Given the description of an element on the screen output the (x, y) to click on. 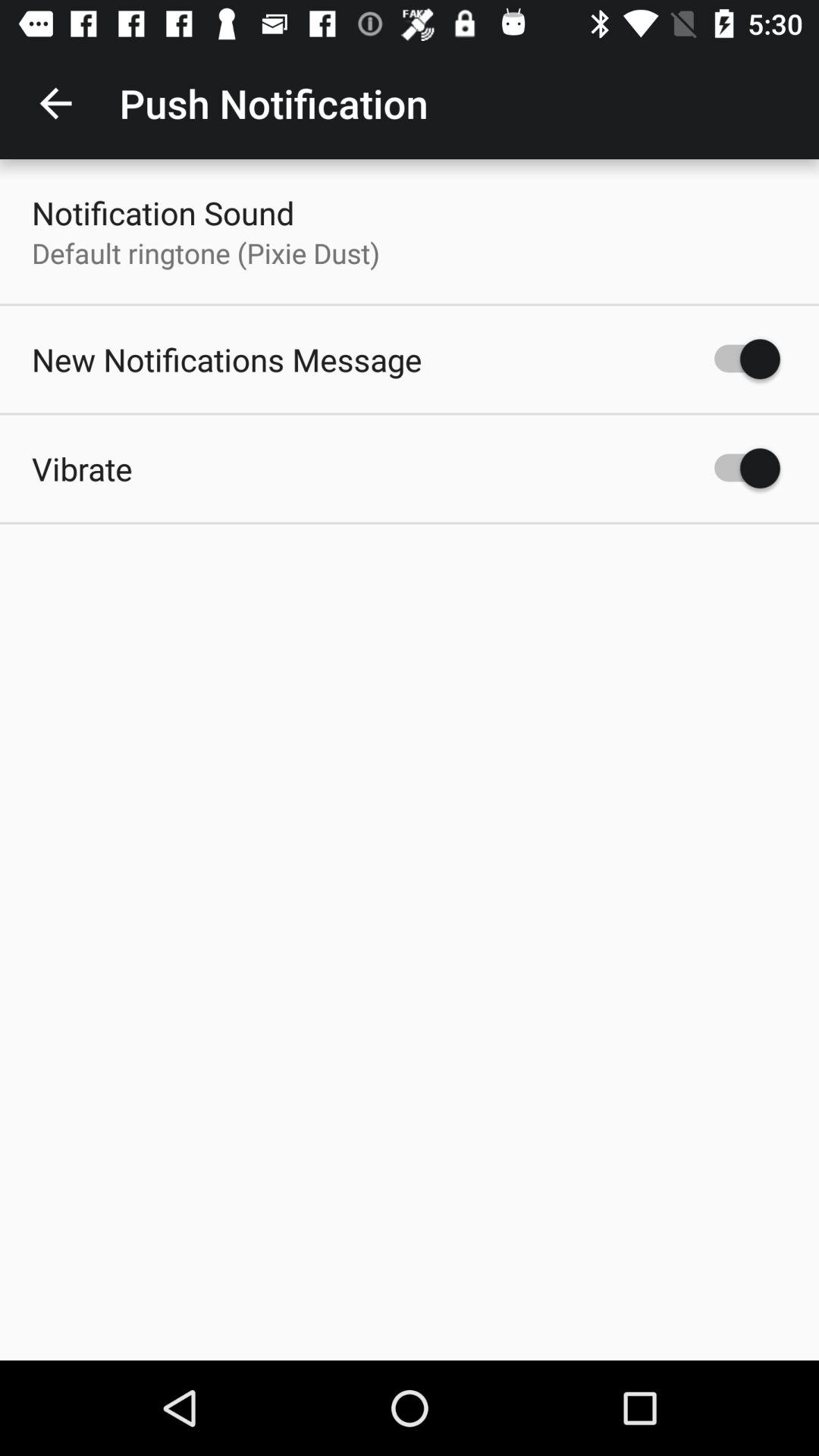
press item above new notifications message icon (205, 252)
